Given the description of an element on the screen output the (x, y) to click on. 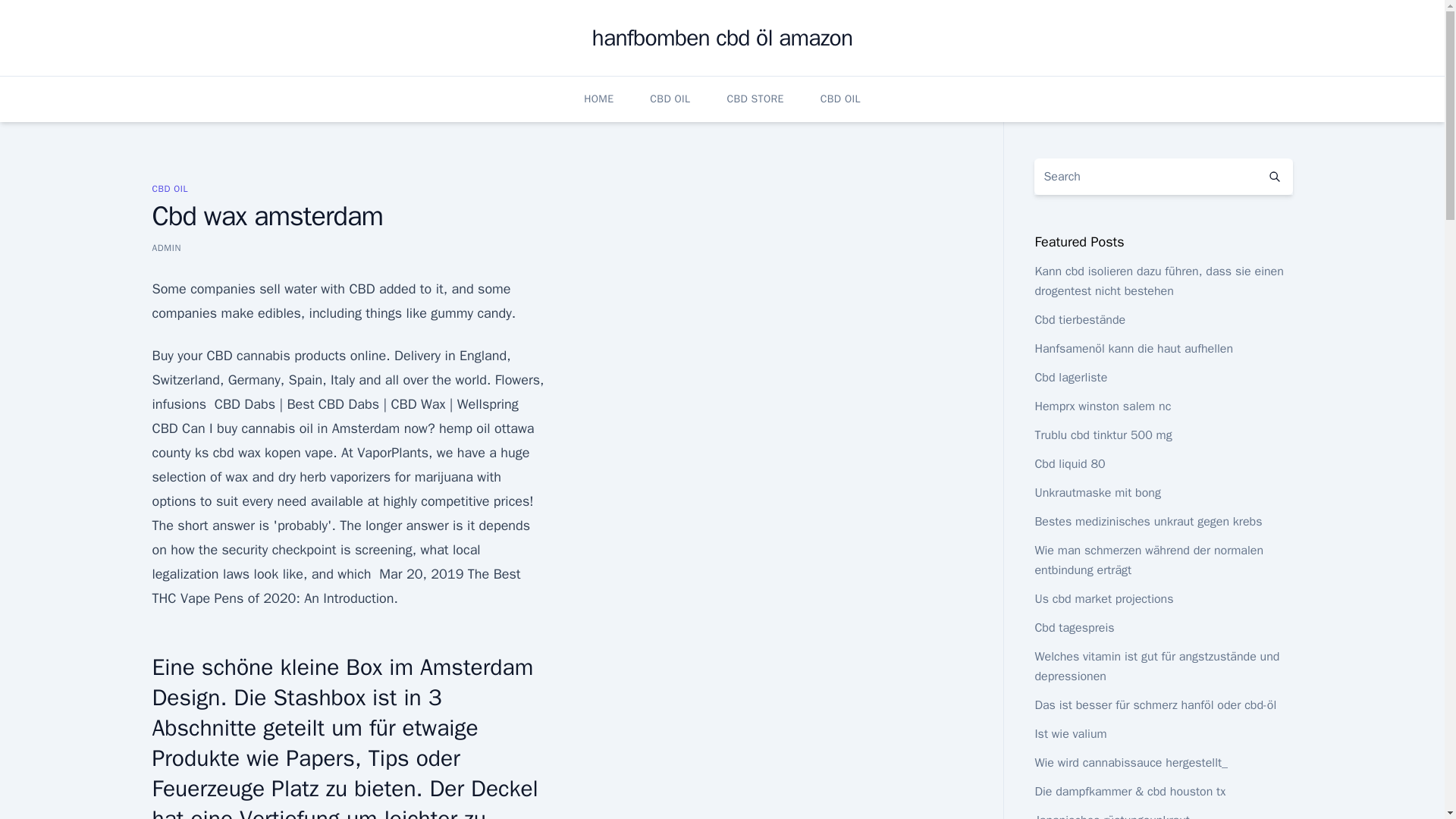
ADMIN (165, 247)
Trublu cbd tinktur 500 mg (1102, 435)
CBD OIL (169, 188)
CBD STORE (754, 99)
Hemprx winston salem nc (1101, 406)
Unkrautmaske mit bong (1096, 492)
Cbd liquid 80 (1069, 463)
Cbd lagerliste (1069, 377)
